Given the description of an element on the screen output the (x, y) to click on. 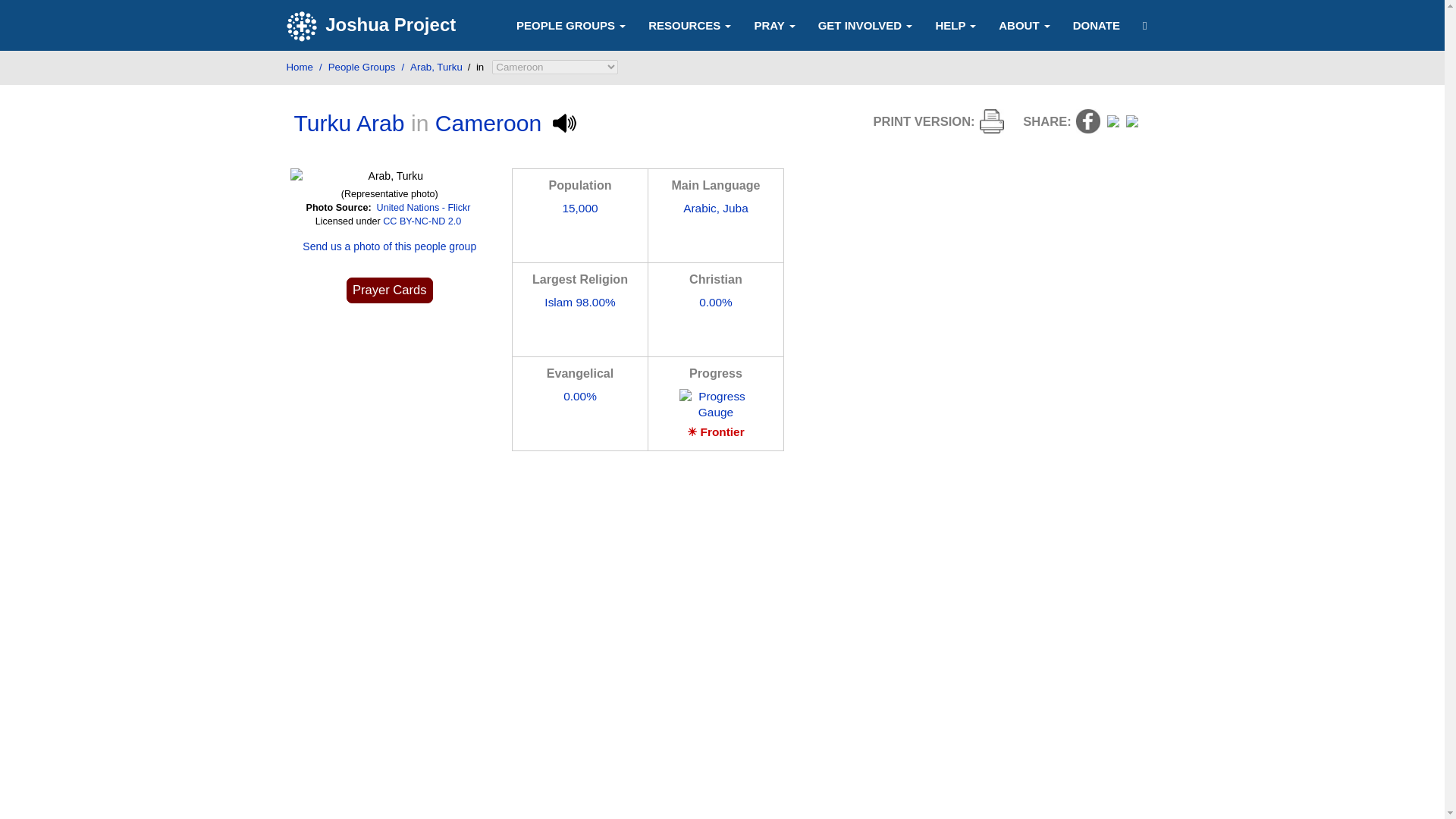
RESOURCES (689, 24)
PEOPLE GROUPS (571, 24)
Joshua Project (373, 25)
